Given the description of an element on the screen output the (x, y) to click on. 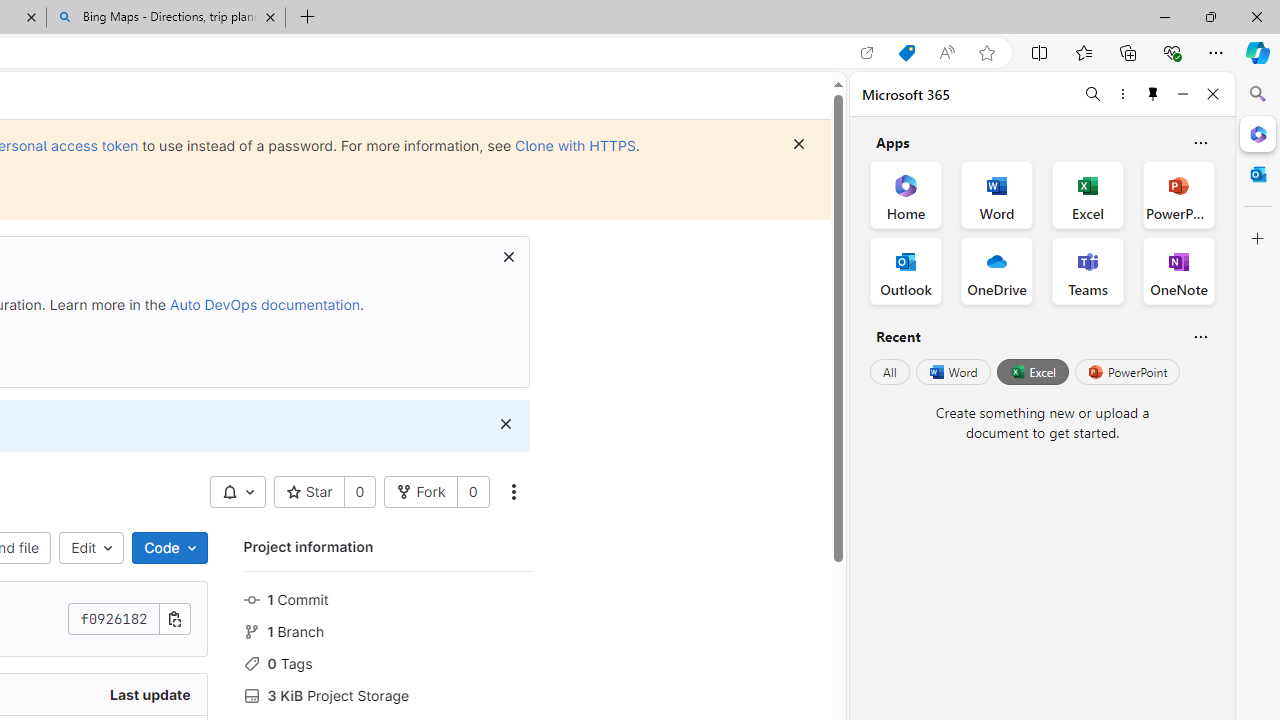
Copy commit SHA (173, 619)
Teams Office App (1087, 270)
Clone with HTTPS (575, 145)
PowerPoint Office App (1178, 194)
Unpin side pane (1153, 93)
Dismiss (505, 423)
Excel Office App (1087, 194)
Word (952, 372)
OneDrive Office App (996, 270)
Outlook Office App (906, 270)
Outlook (1258, 174)
1 Commit (387, 597)
